Given the description of an element on the screen output the (x, y) to click on. 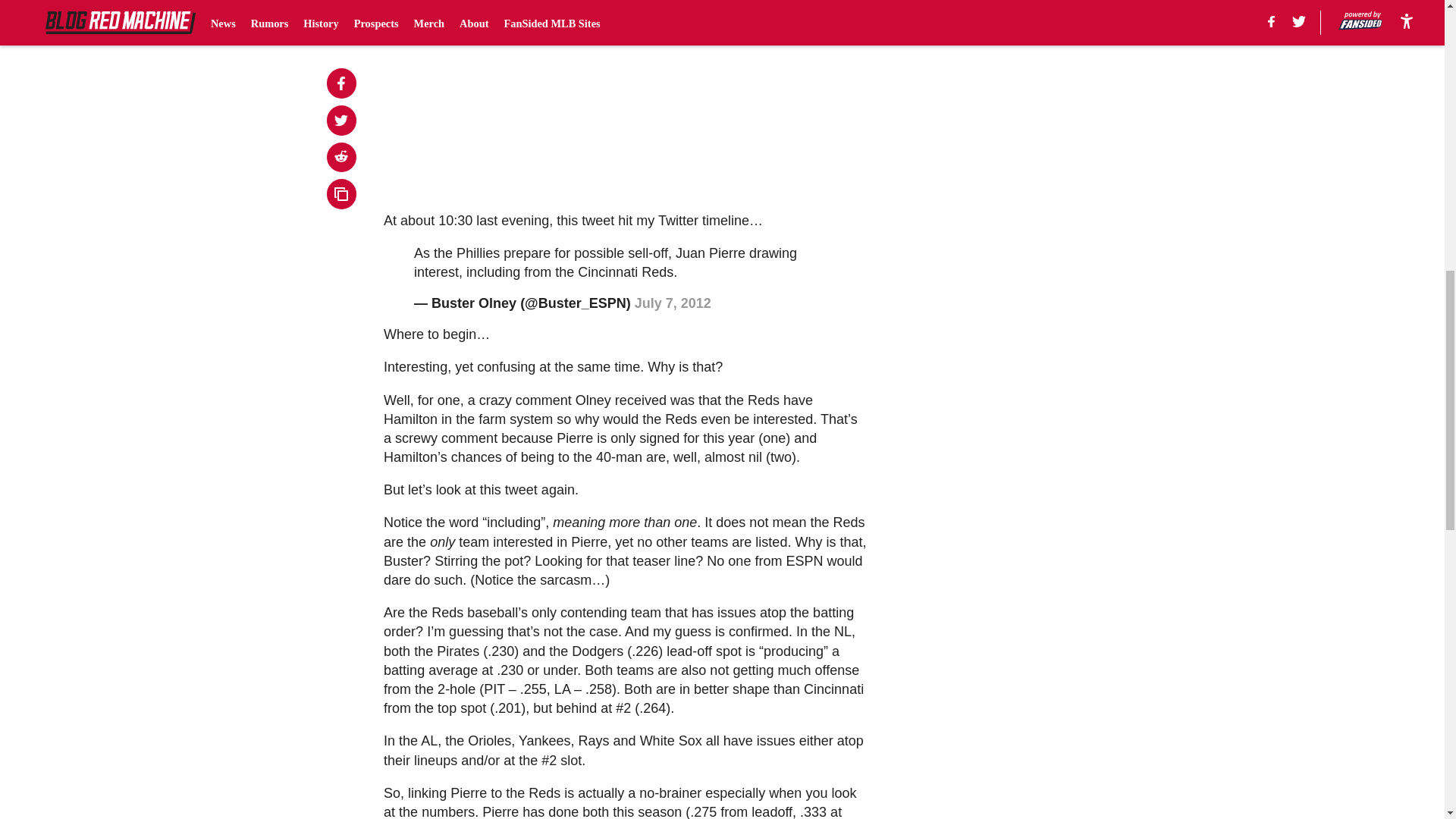
July 7, 2012 (672, 303)
